Given the description of an element on the screen output the (x, y) to click on. 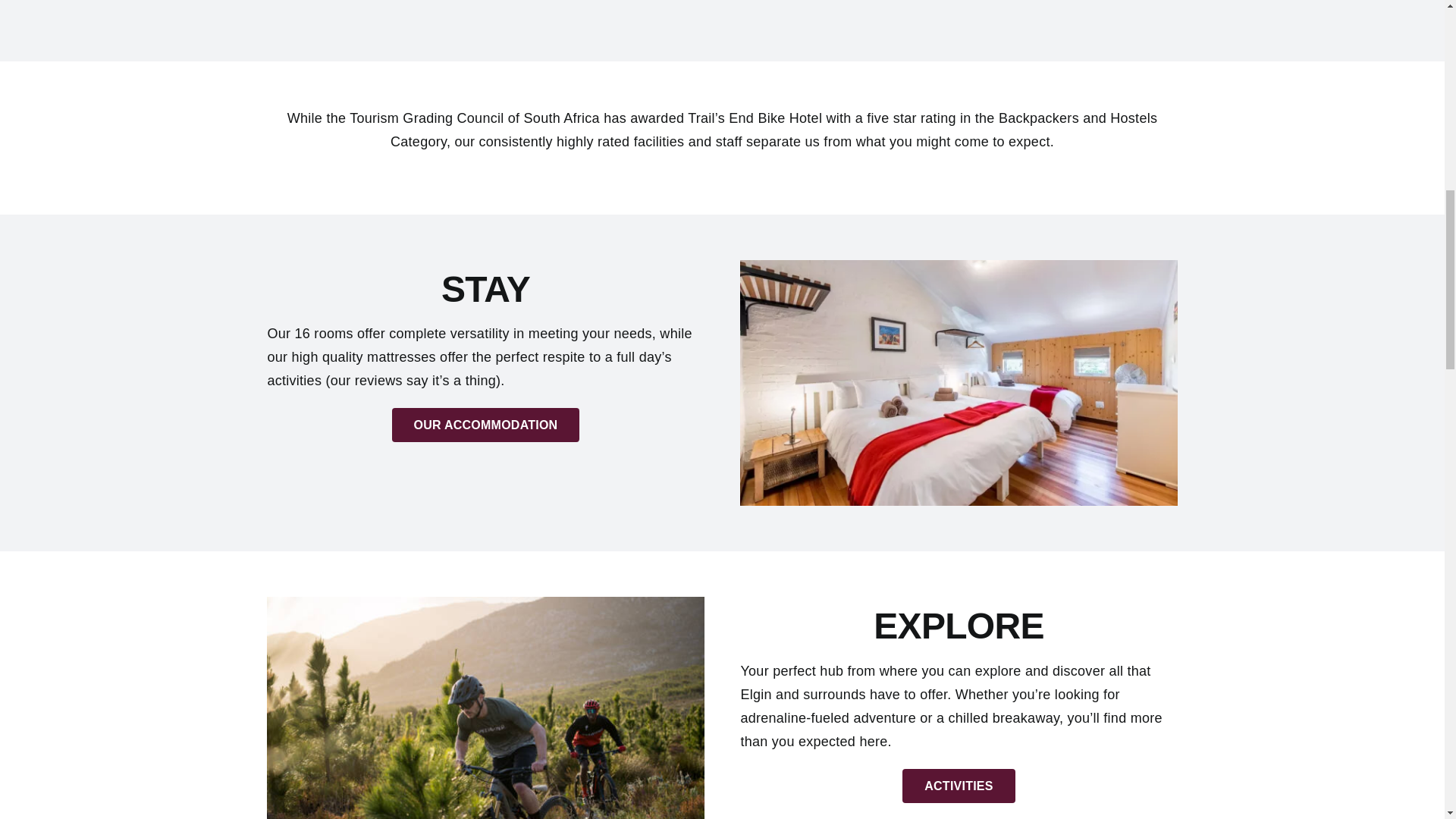
Room-10-11-12-16-Trails-End-Interior-1 (957, 383)
